Given the description of an element on the screen output the (x, y) to click on. 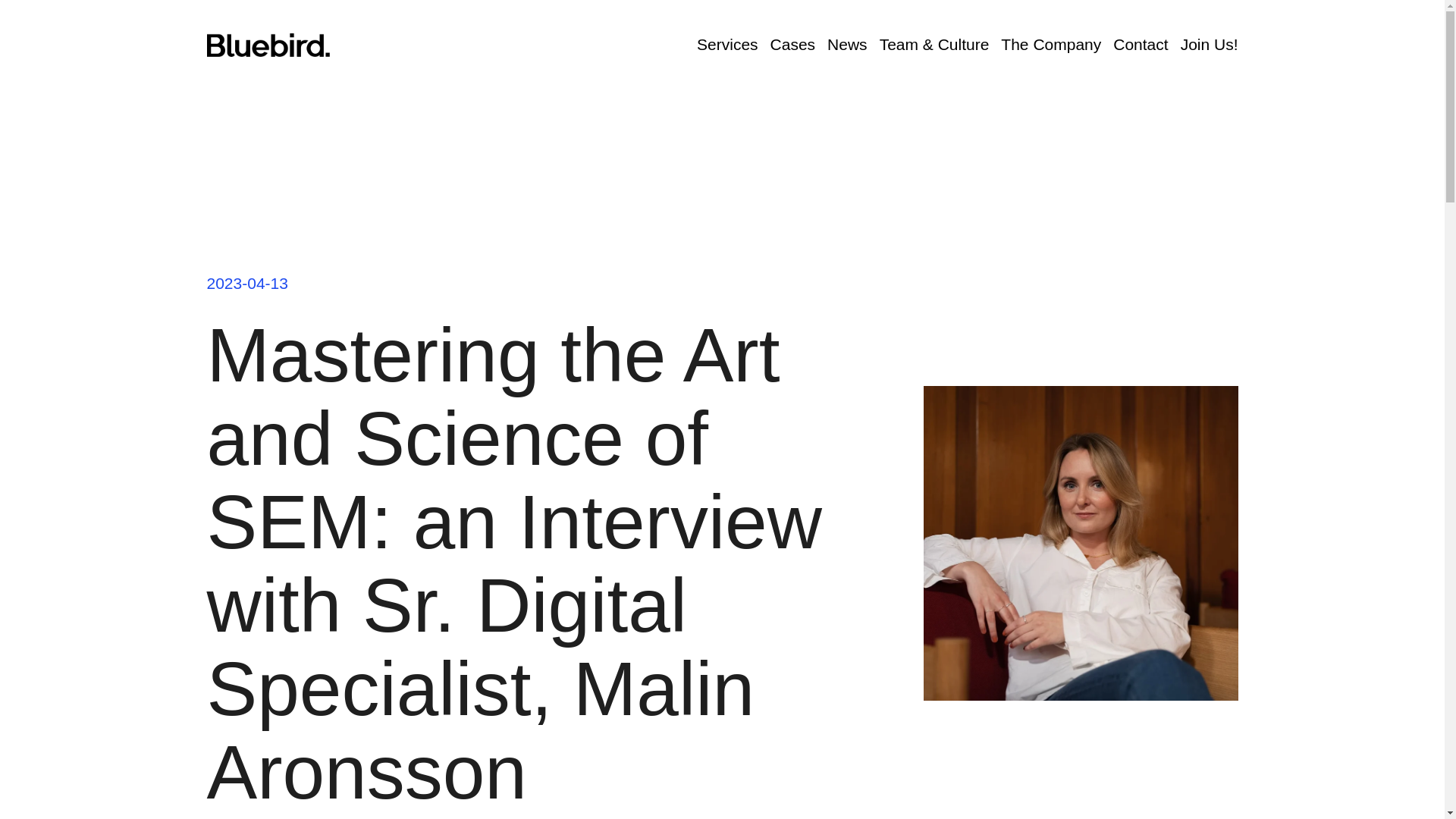
Join Us! (1209, 44)
Services (727, 44)
The Company (1050, 44)
Contact (1140, 44)
Cases (792, 44)
News (847, 44)
